Given the description of an element on the screen output the (x, y) to click on. 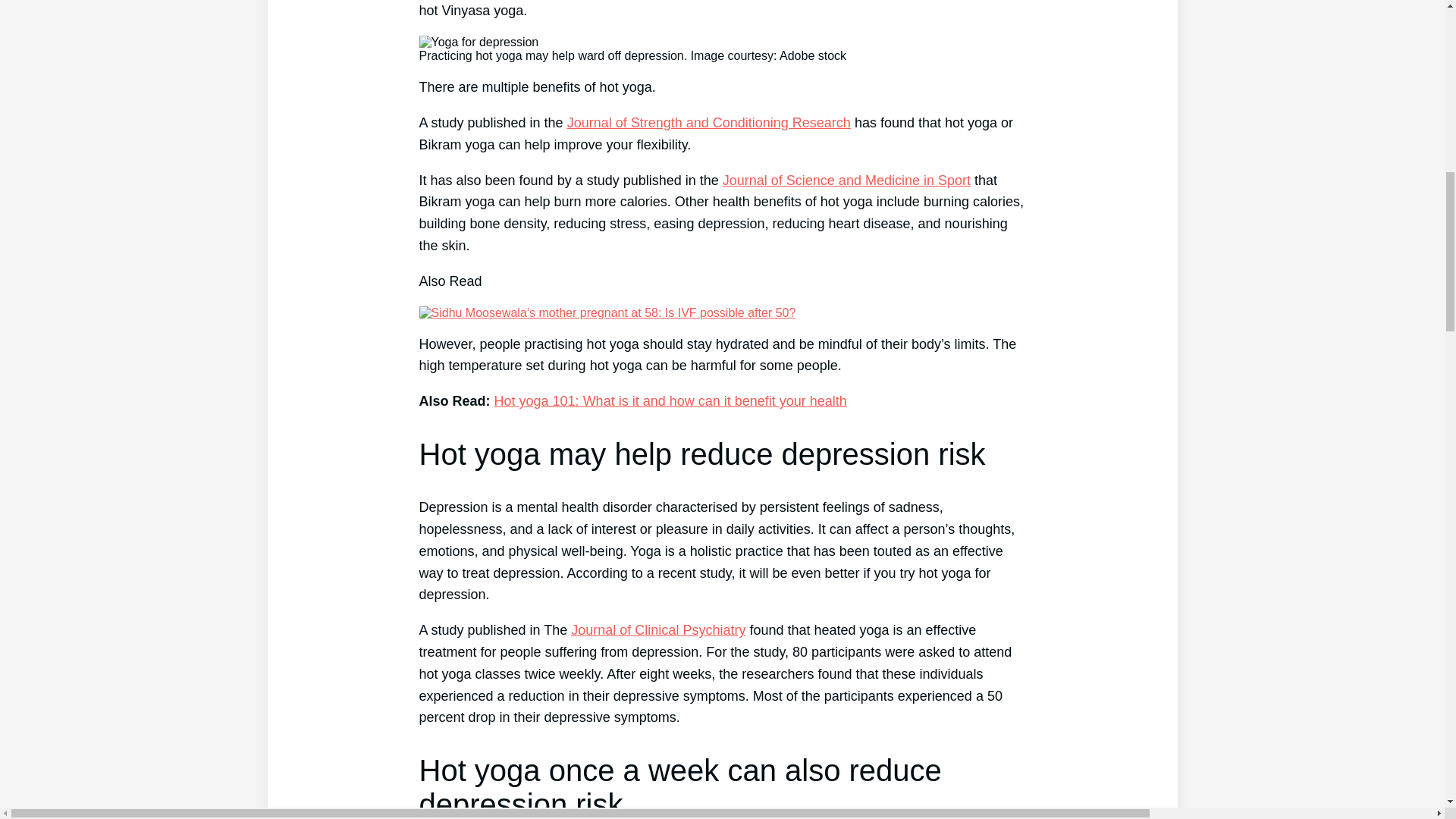
Yoga for depression (478, 42)
Journal of Strength and Conditioning Research (708, 122)
Journal of Science and Medicine in Sport (846, 180)
Hot yoga 101: What is it and how can it benefit your health (671, 400)
Journal of Clinical Psychiatry (657, 630)
